Given the description of an element on the screen output the (x, y) to click on. 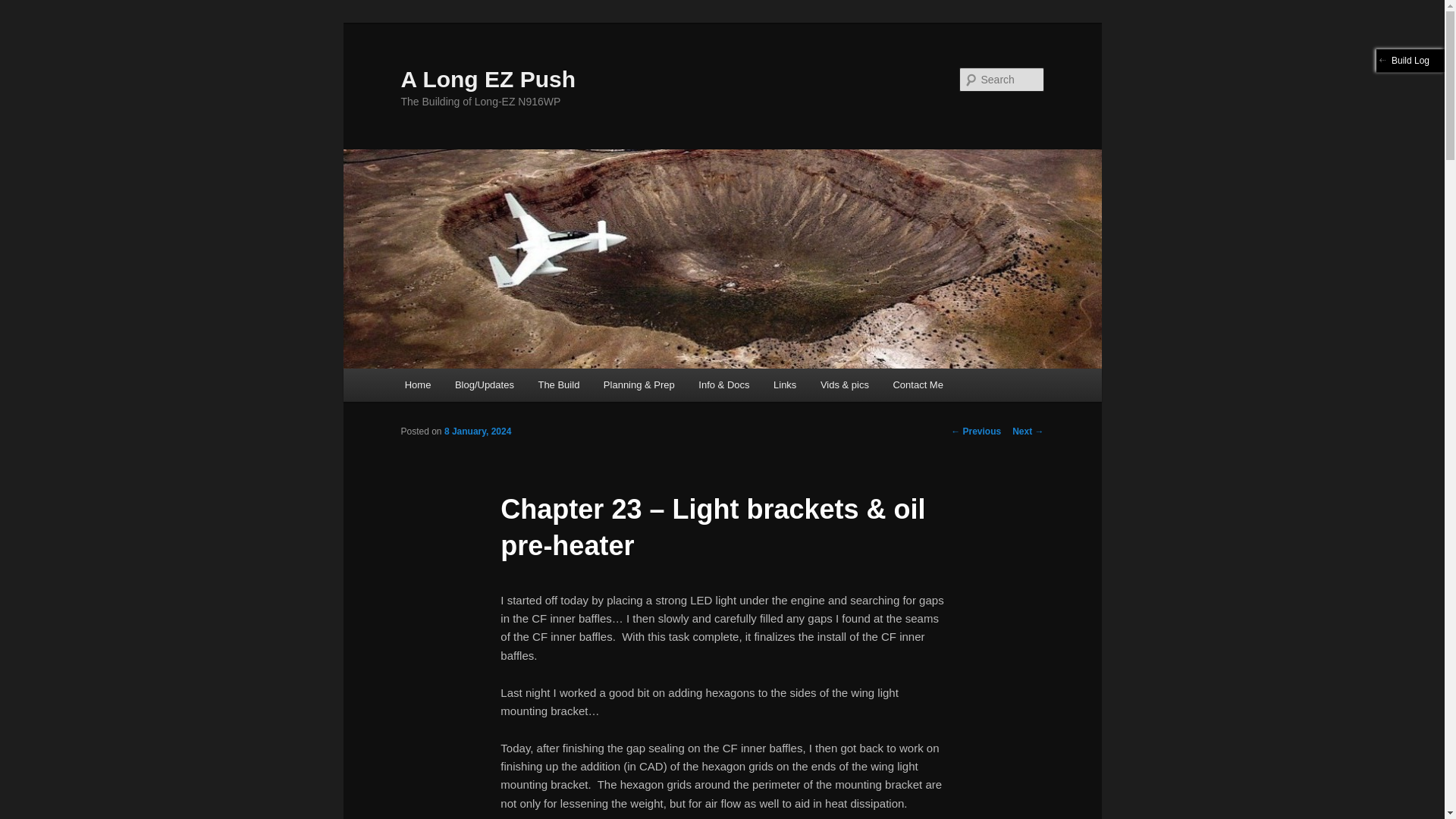
Search (24, 8)
10:37 PM (478, 430)
Home (417, 384)
The Build (558, 384)
A Long EZ Push (487, 78)
